Given the description of an element on the screen output the (x, y) to click on. 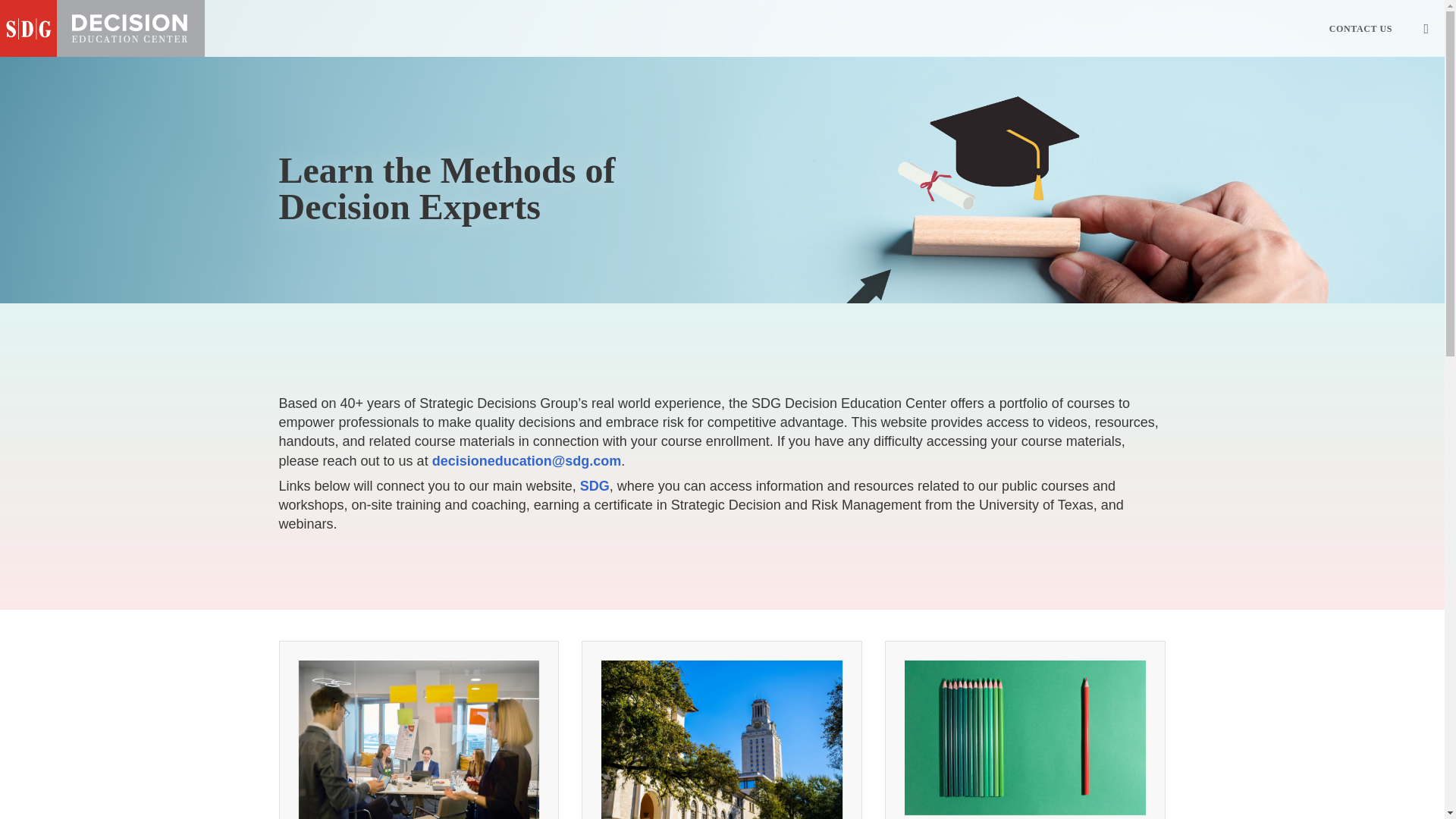
SDG (594, 485)
SDG Decision Education Center (102, 28)
CONTACT US (1360, 28)
Learn More (722, 746)
View Resources (1026, 746)
Learn More (418, 791)
